Given the description of an element on the screen output the (x, y) to click on. 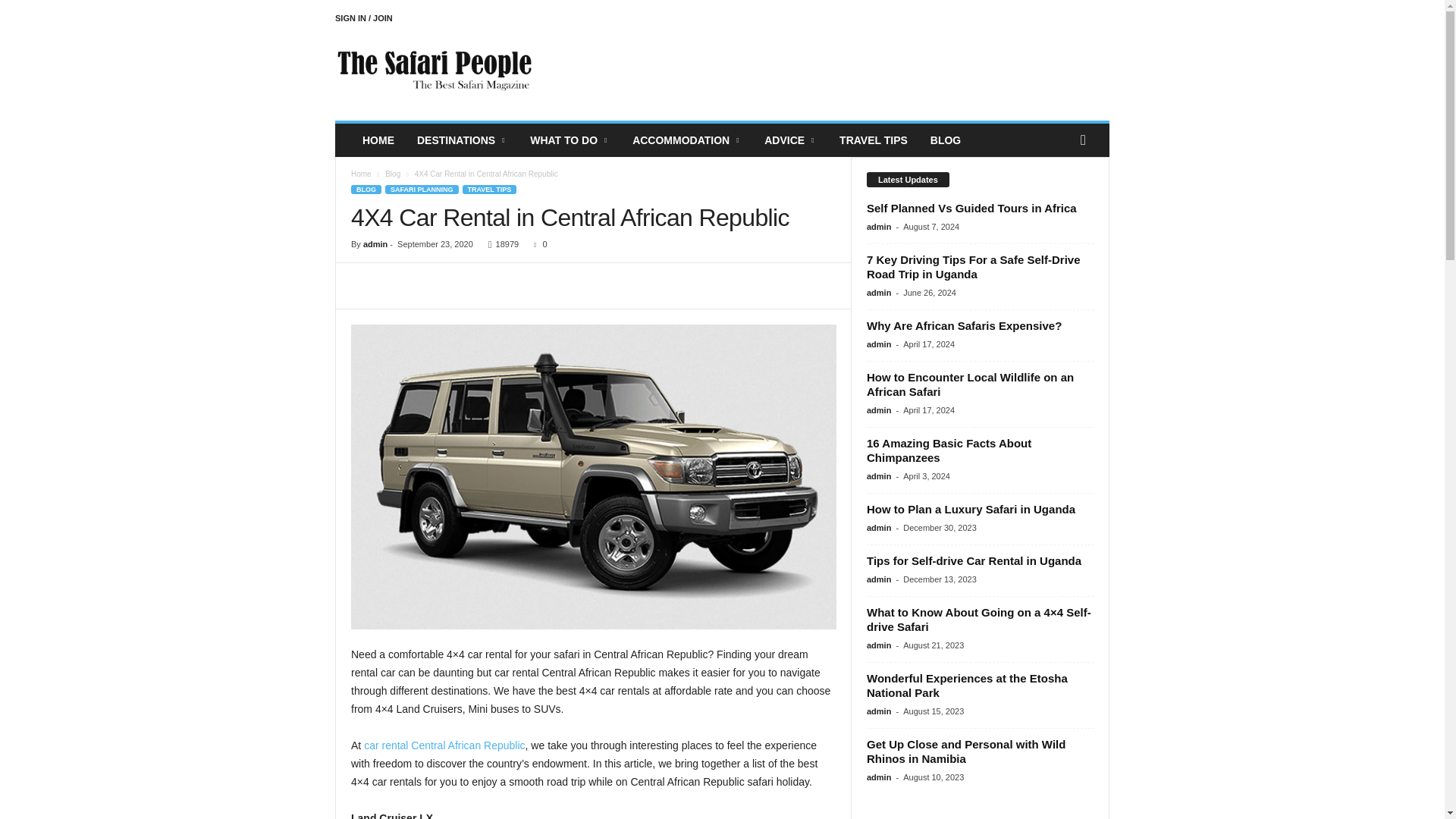
admin (374, 243)
DESTINATIONS (462, 140)
TRAVEL TIPS (489, 189)
ADVICE (790, 140)
HOME (378, 140)
0 (537, 243)
Blog (392, 173)
BLOG (365, 189)
The Safari People (437, 70)
SAFARI PLANNING (421, 189)
